Given the description of an element on the screen output the (x, y) to click on. 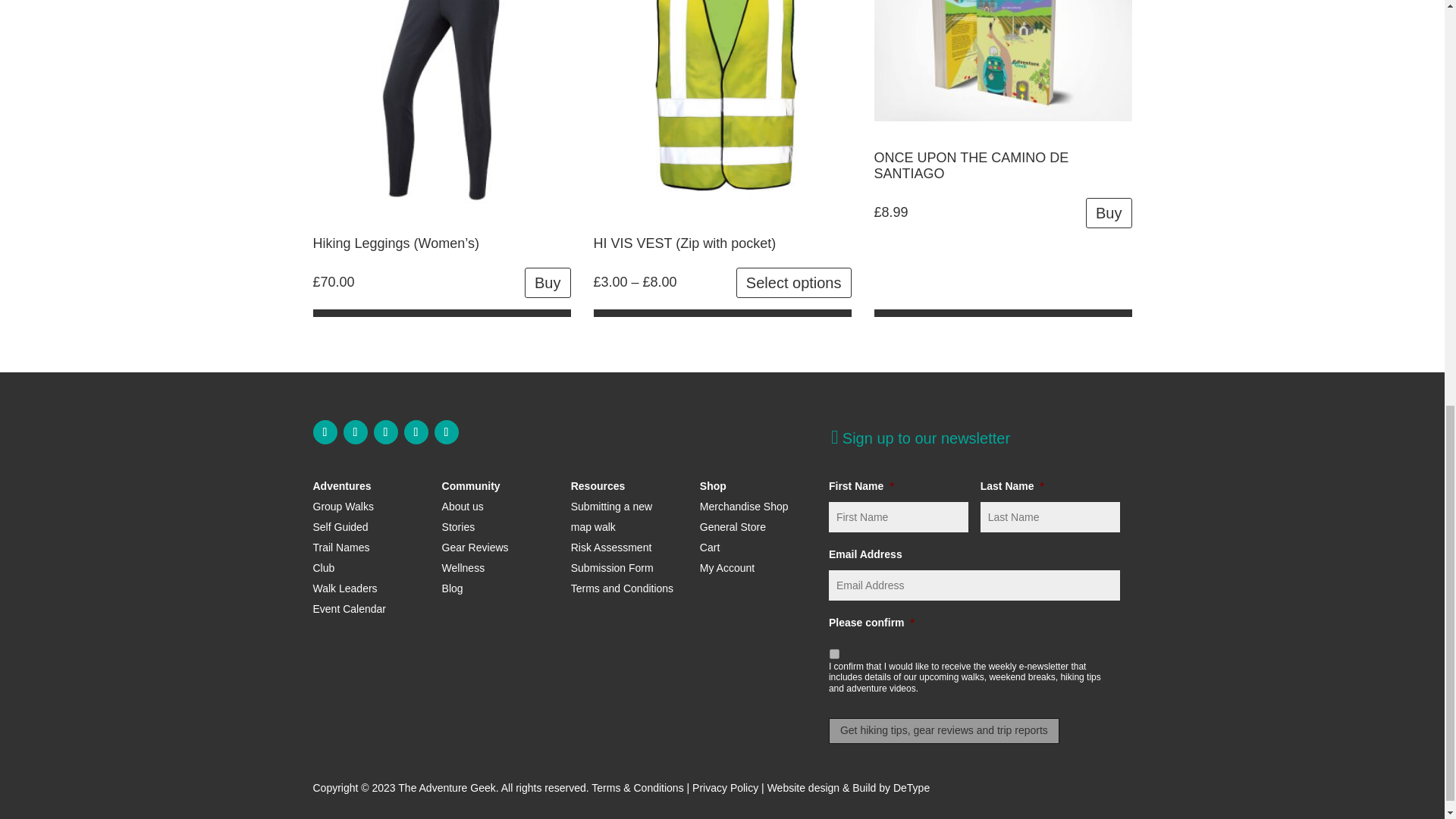
Follow on Youtube (415, 432)
Get hiking tips, gear reviews and trip reports (943, 730)
Follow on LinkedIn (445, 432)
Follow on Instagram (354, 432)
Follow on Twitter (384, 432)
Follow on Facebook (324, 432)
